Given the description of an element on the screen output the (x, y) to click on. 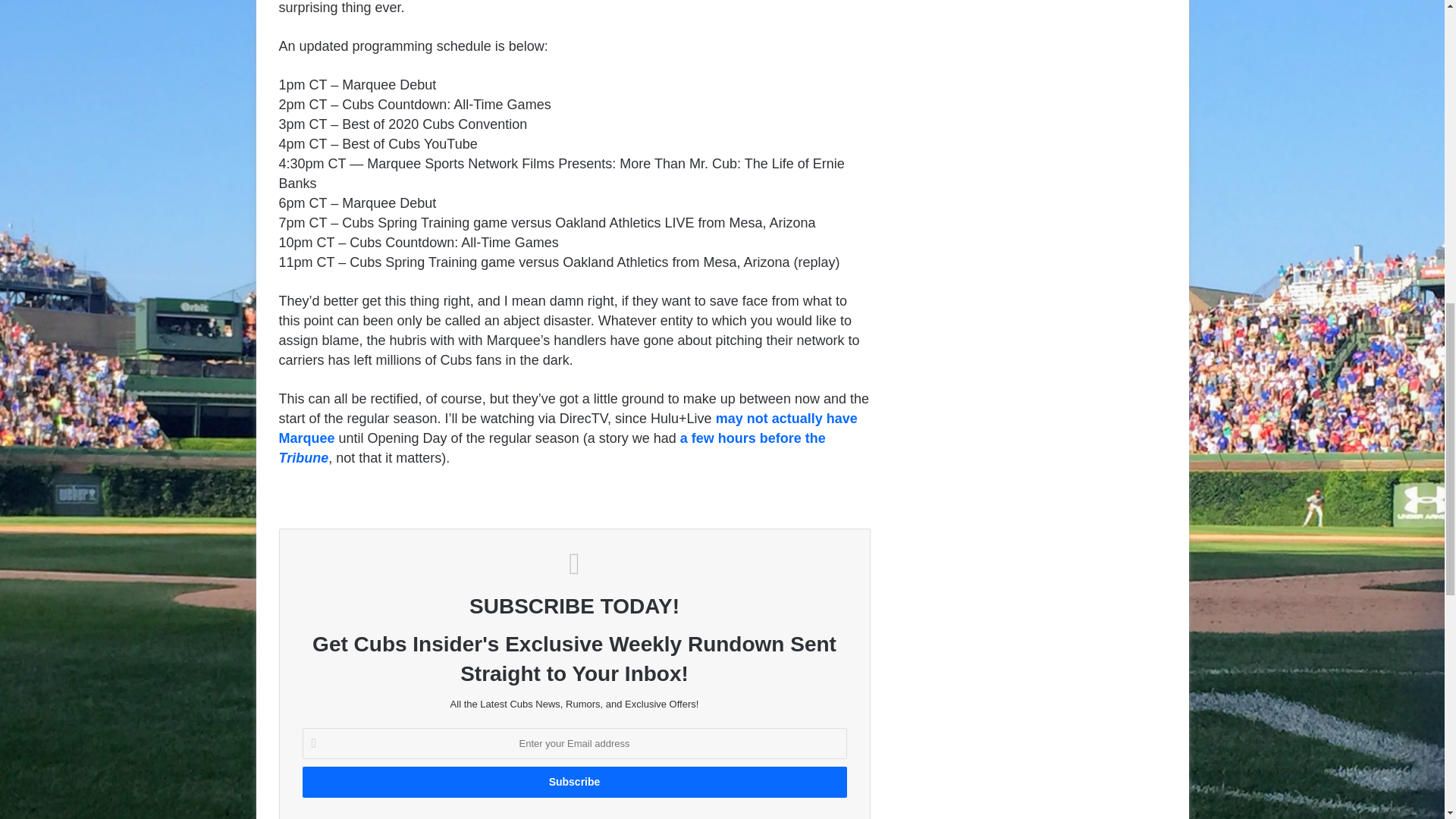
a few hours before the Tribune (552, 448)
may not actually have Marquee (568, 428)
Subscribe (573, 781)
